Given the description of an element on the screen output the (x, y) to click on. 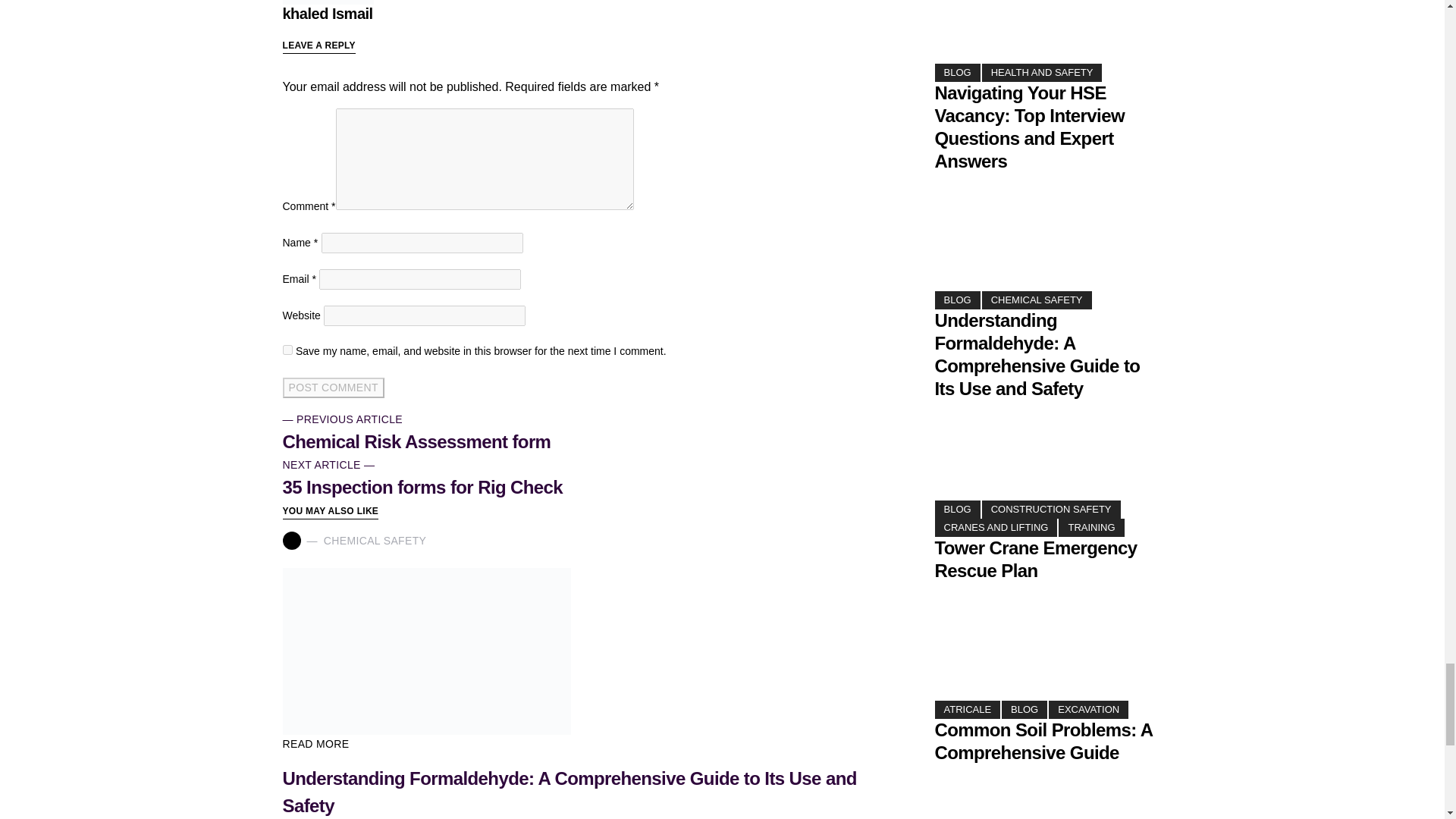
yes (287, 349)
Post Comment (333, 387)
